Given the description of an element on the screen output the (x, y) to click on. 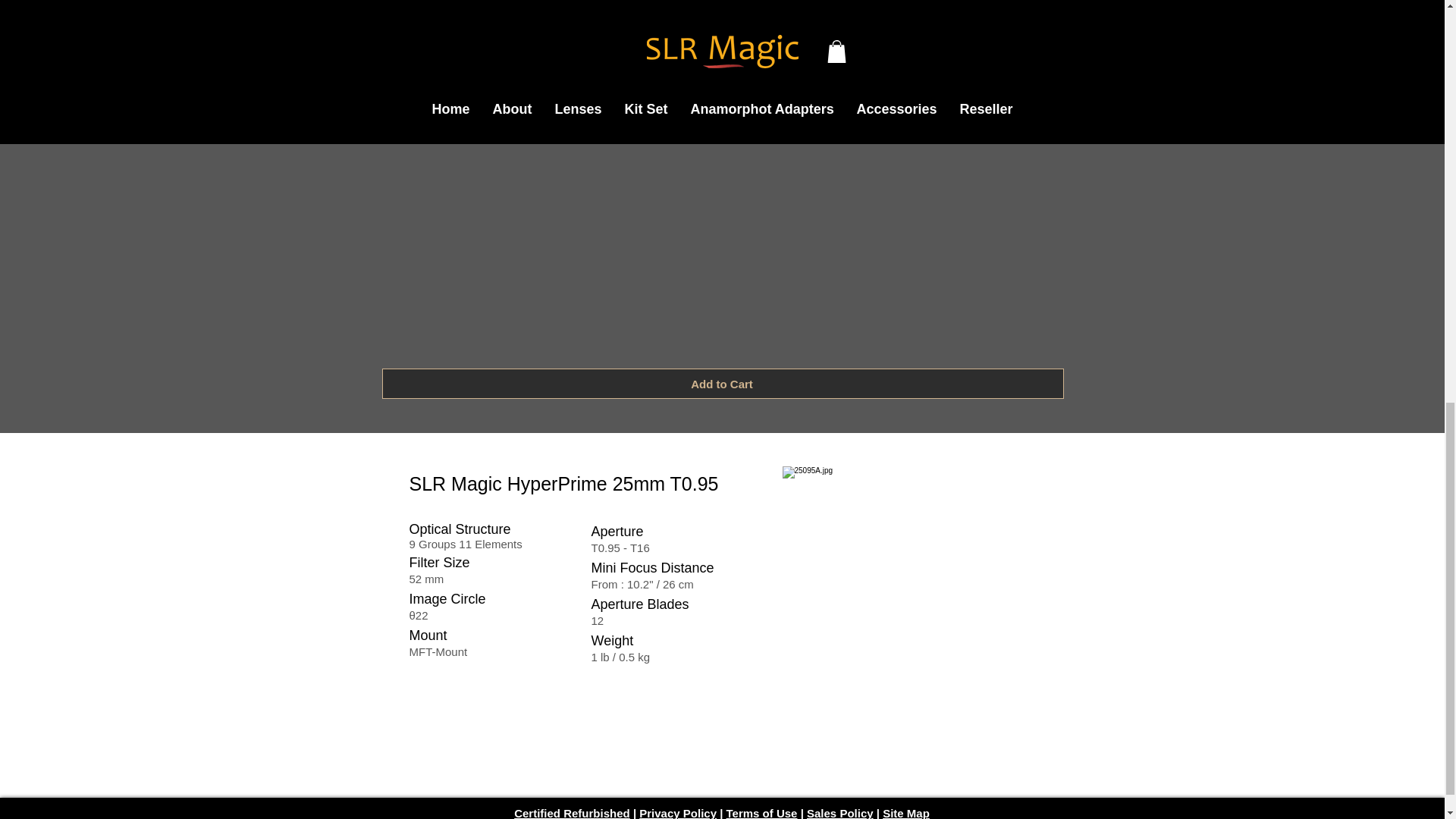
Certified Refurbished (571, 812)
Privacy Policy (677, 812)
Terms of Use (761, 812)
Site Map (906, 812)
Sales Policy (839, 812)
Add to Cart (722, 383)
